Given the description of an element on the screen output the (x, y) to click on. 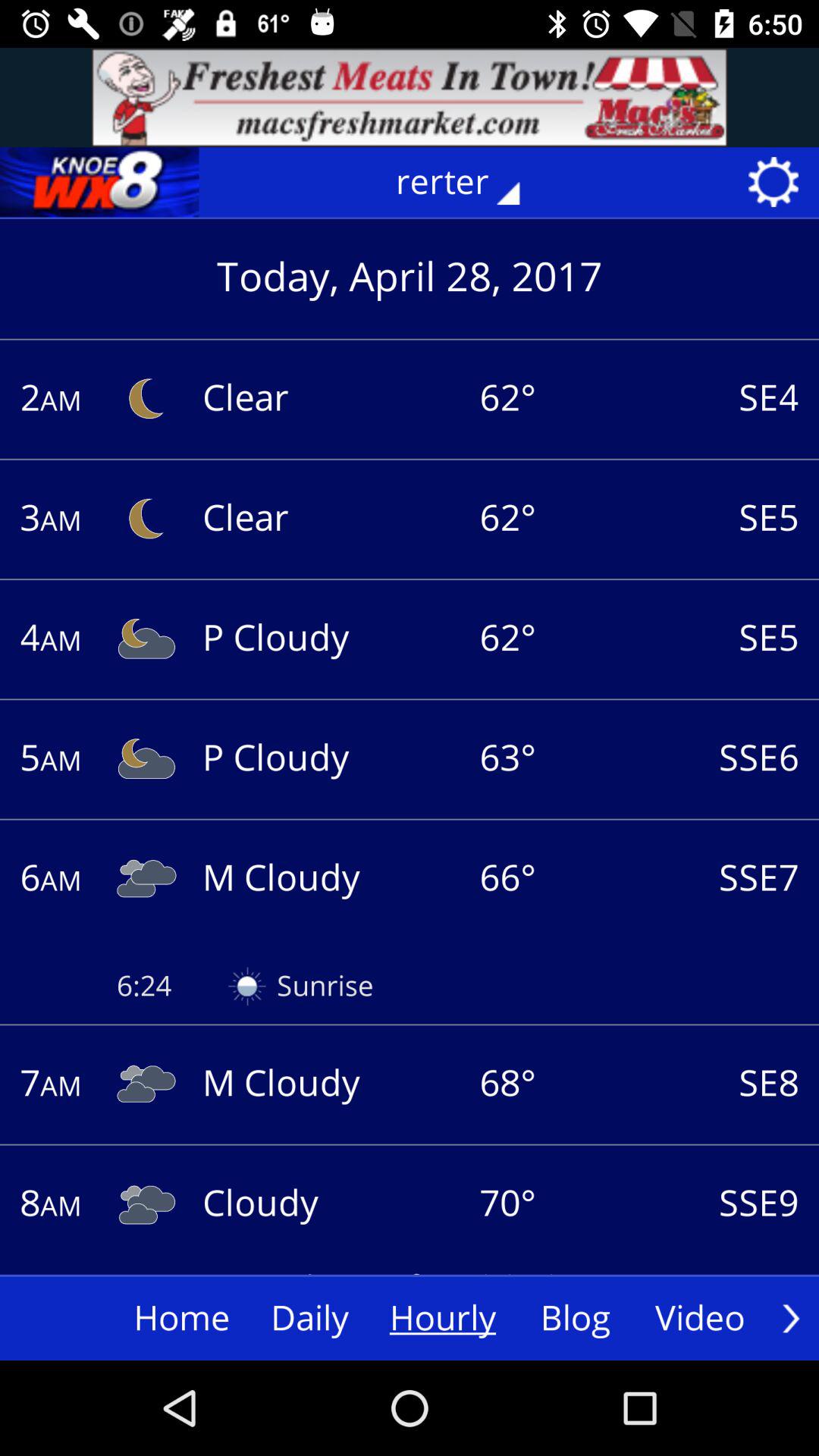
choose item to the left of the rerter icon (99, 182)
